Given the description of an element on the screen output the (x, y) to click on. 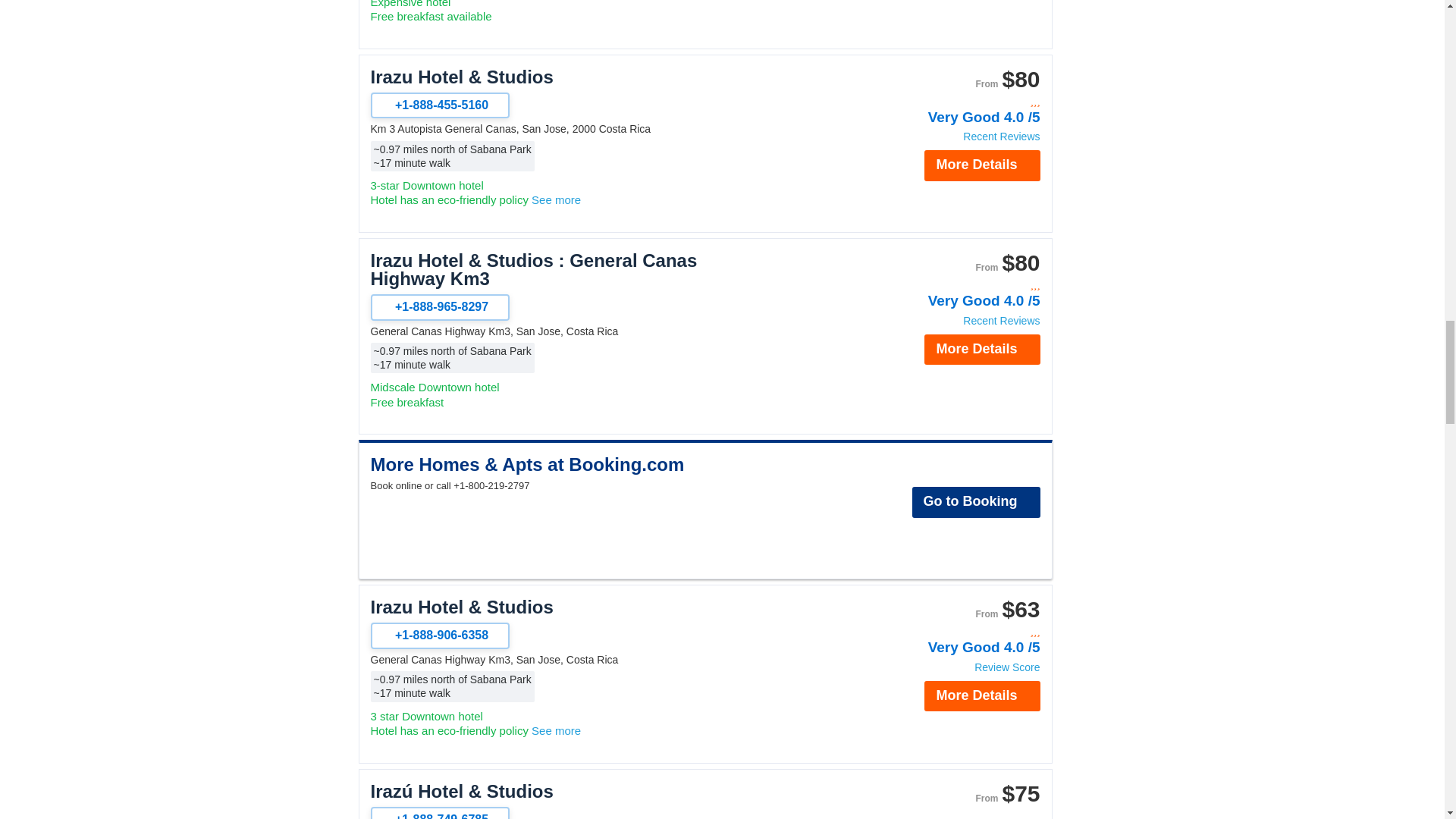
3 stars (958, 814)
3 stars (958, 285)
3 stars (958, 631)
3 stars (958, 101)
